Given the description of an element on the screen output the (x, y) to click on. 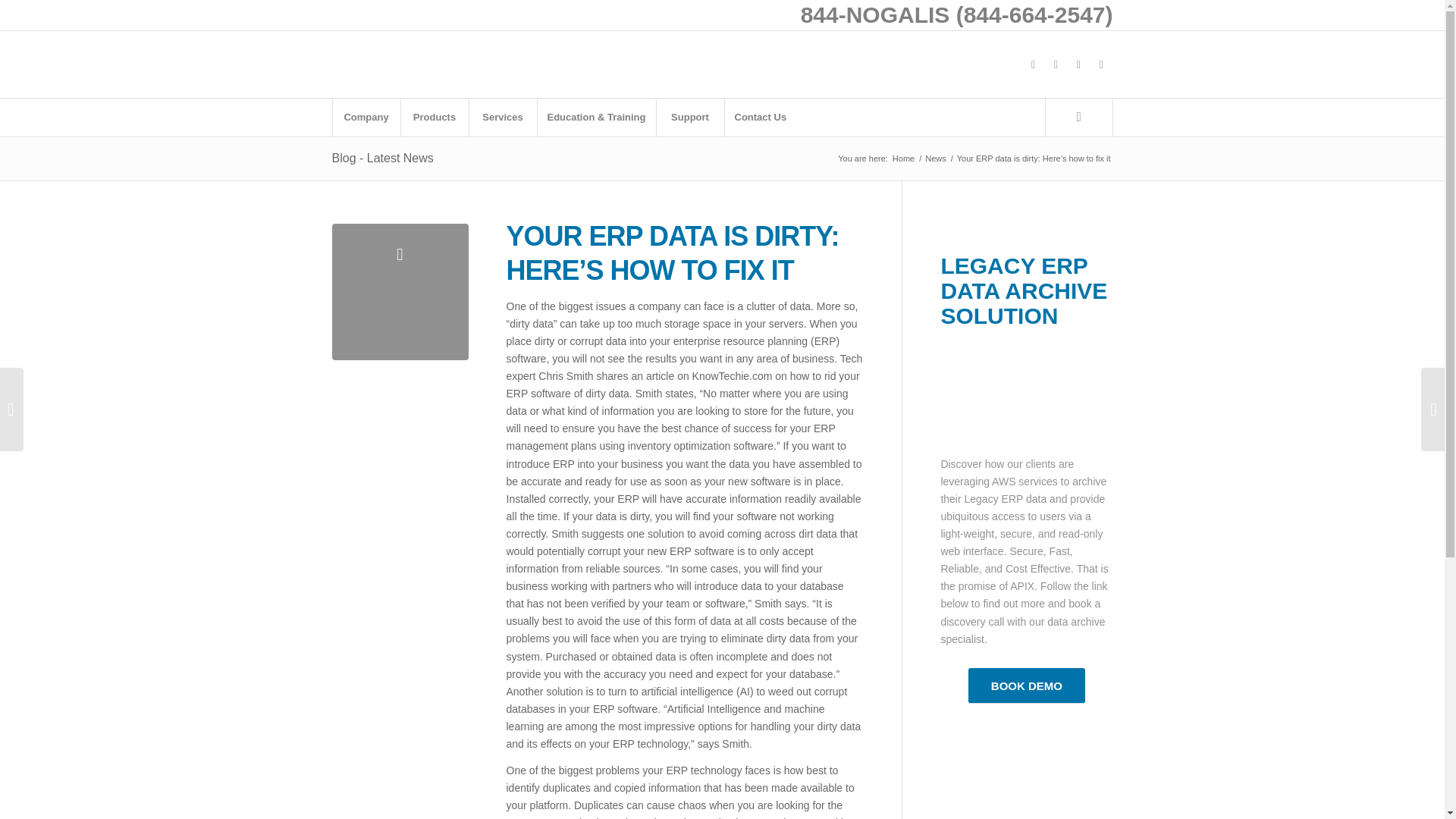
LEGACY ERP DATA ARCHIVE SOLUTION (1023, 290)
X (1056, 64)
BOOK DEMO (1026, 685)
Book a time to discuss your project with an expert (1026, 685)
News (936, 158)
Products (434, 117)
Services (502, 117)
Nogalis, Inc. (903, 158)
Facebook (1033, 64)
Blog - Latest News (382, 157)
Support (689, 117)
Company (365, 117)
Home (903, 158)
Permanent Link: Blog - Latest News (382, 157)
Mail (1101, 64)
